Given the description of an element on the screen output the (x, y) to click on. 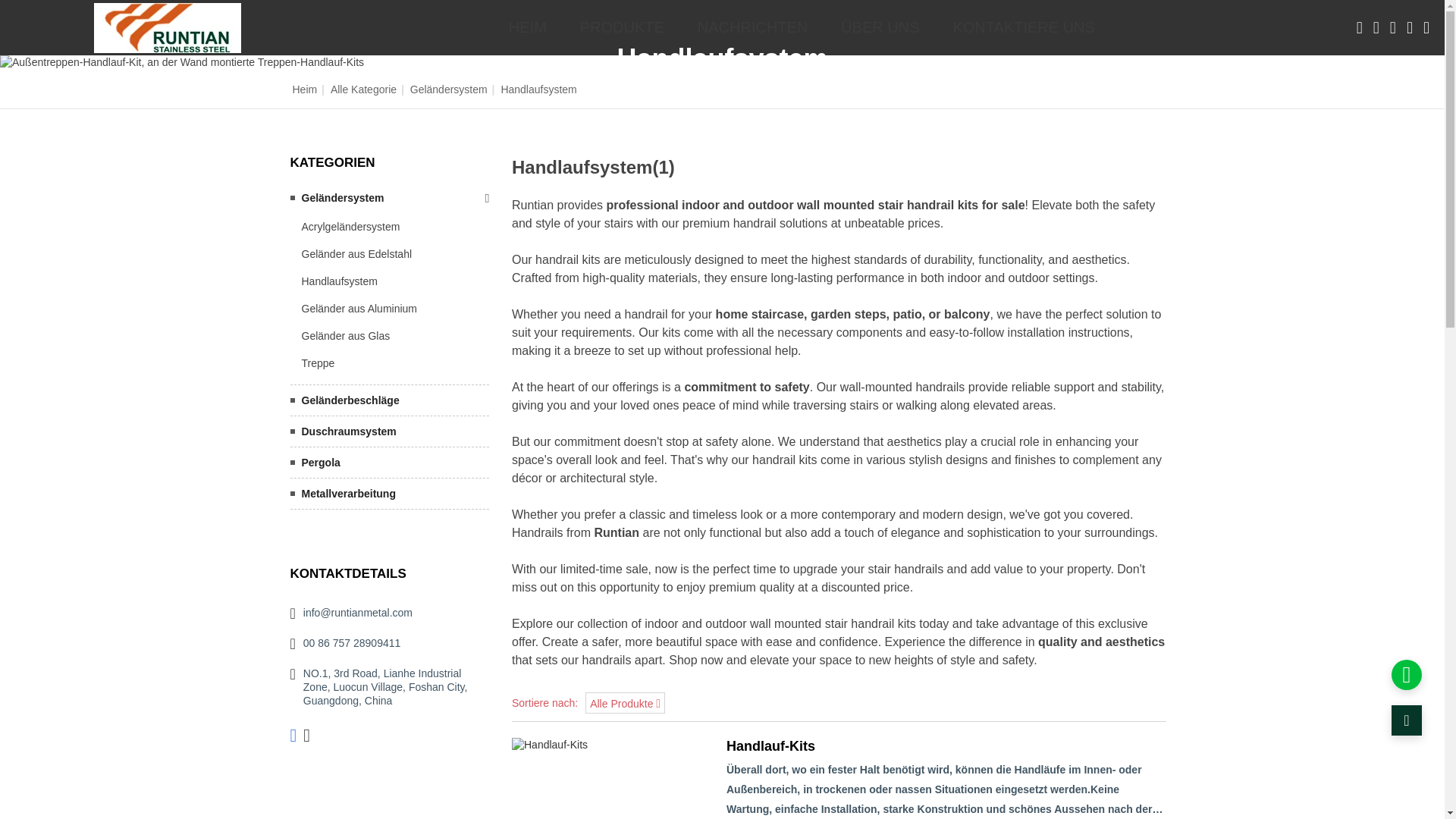
KONTAKTIERE UNS (1023, 27)
Alle Kategorie (363, 89)
HEIM (527, 27)
NACHRICHTEN (753, 27)
Heim (304, 89)
PRODUKTE (621, 27)
